Given the description of an element on the screen output the (x, y) to click on. 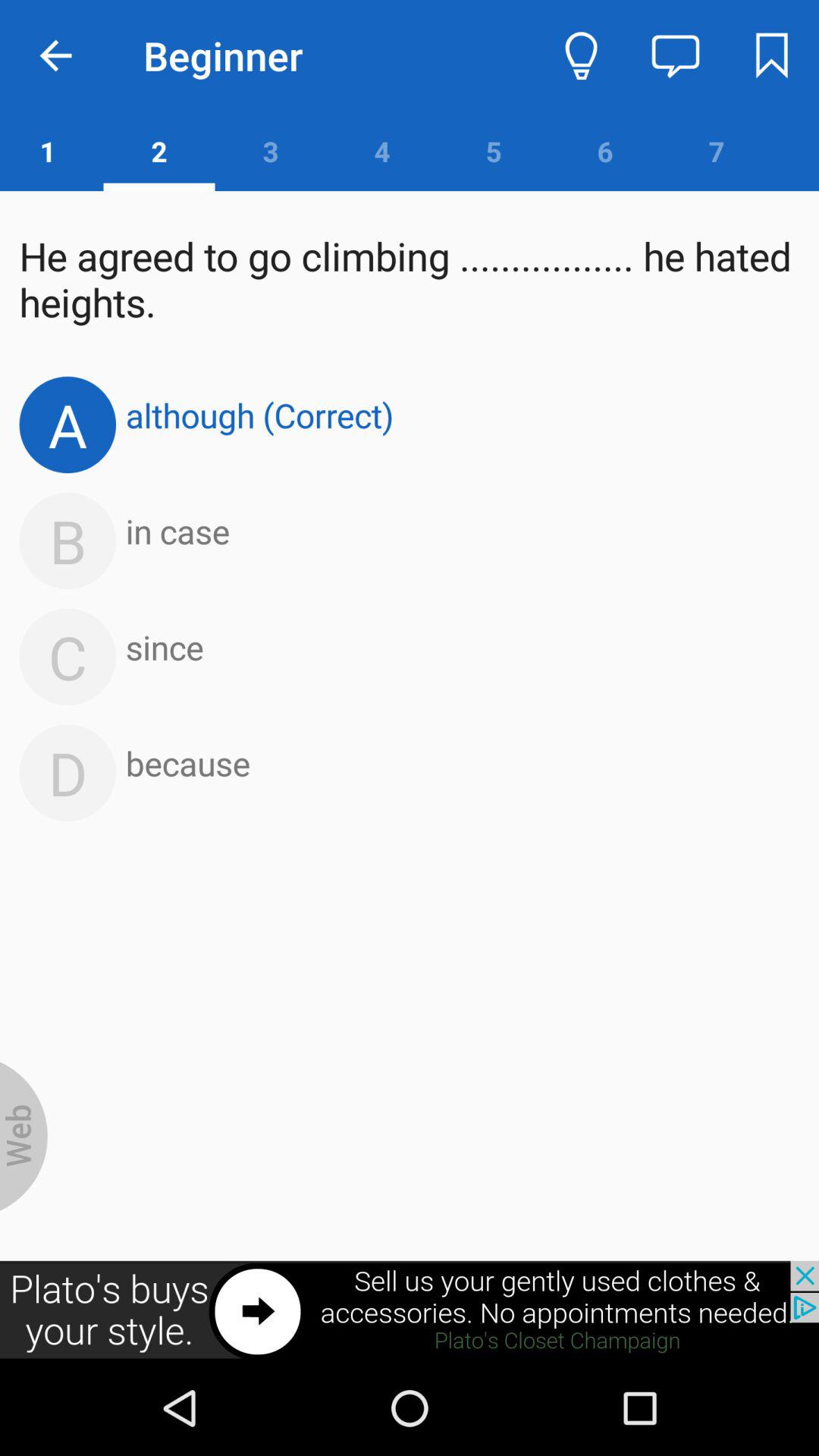
view the advertisement (409, 1310)
